Given the description of an element on the screen output the (x, y) to click on. 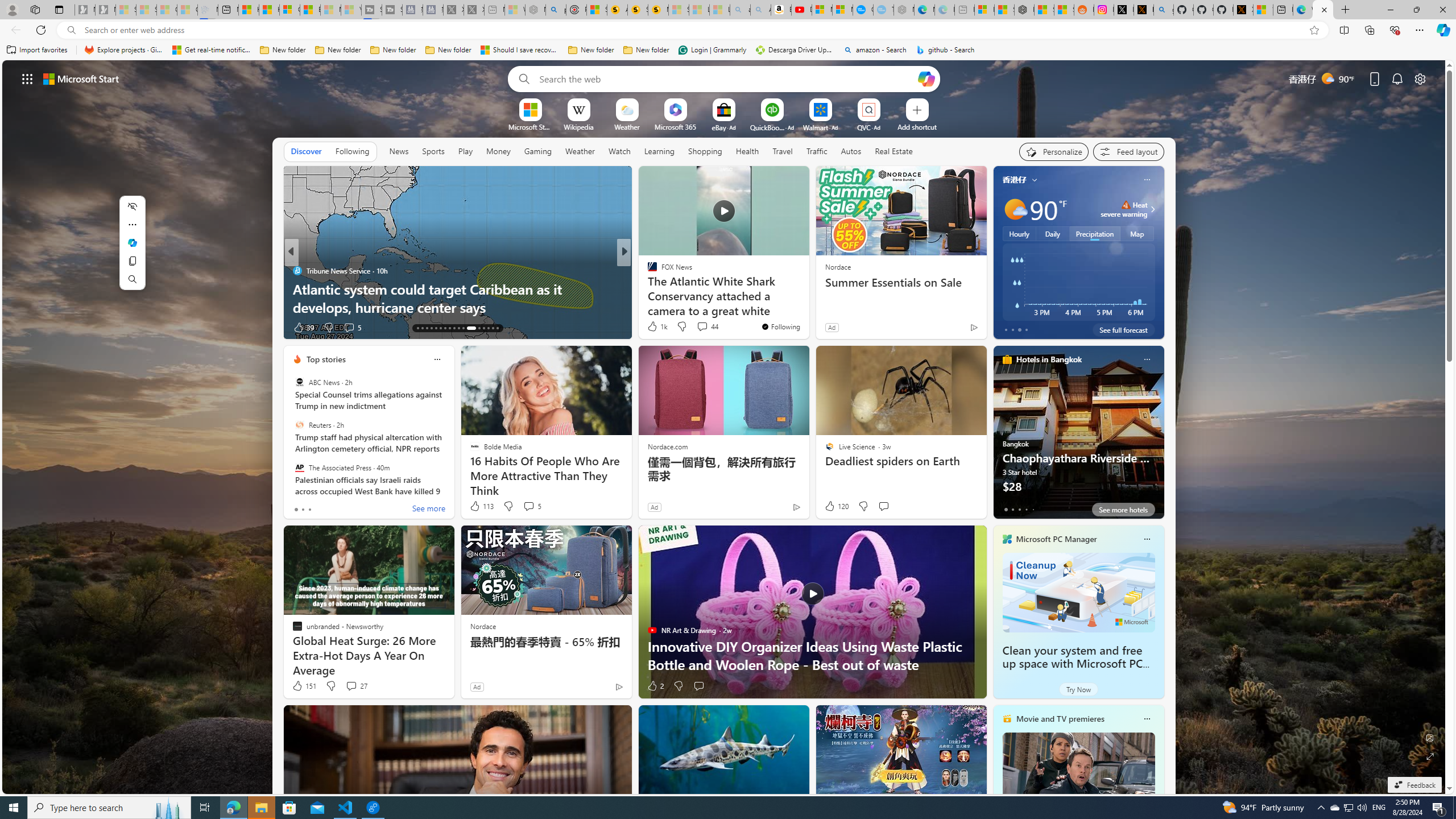
View comments 1 Comment (705, 327)
Feed settings (1128, 151)
AutomationID: tab-21 (454, 328)
Wikipedia (578, 126)
AutomationID: tab-26 (483, 328)
Try Now (1078, 689)
AutomationID: tab-22 (458, 328)
github - Search (1162, 9)
